Given the description of an element on the screen output the (x, y) to click on. 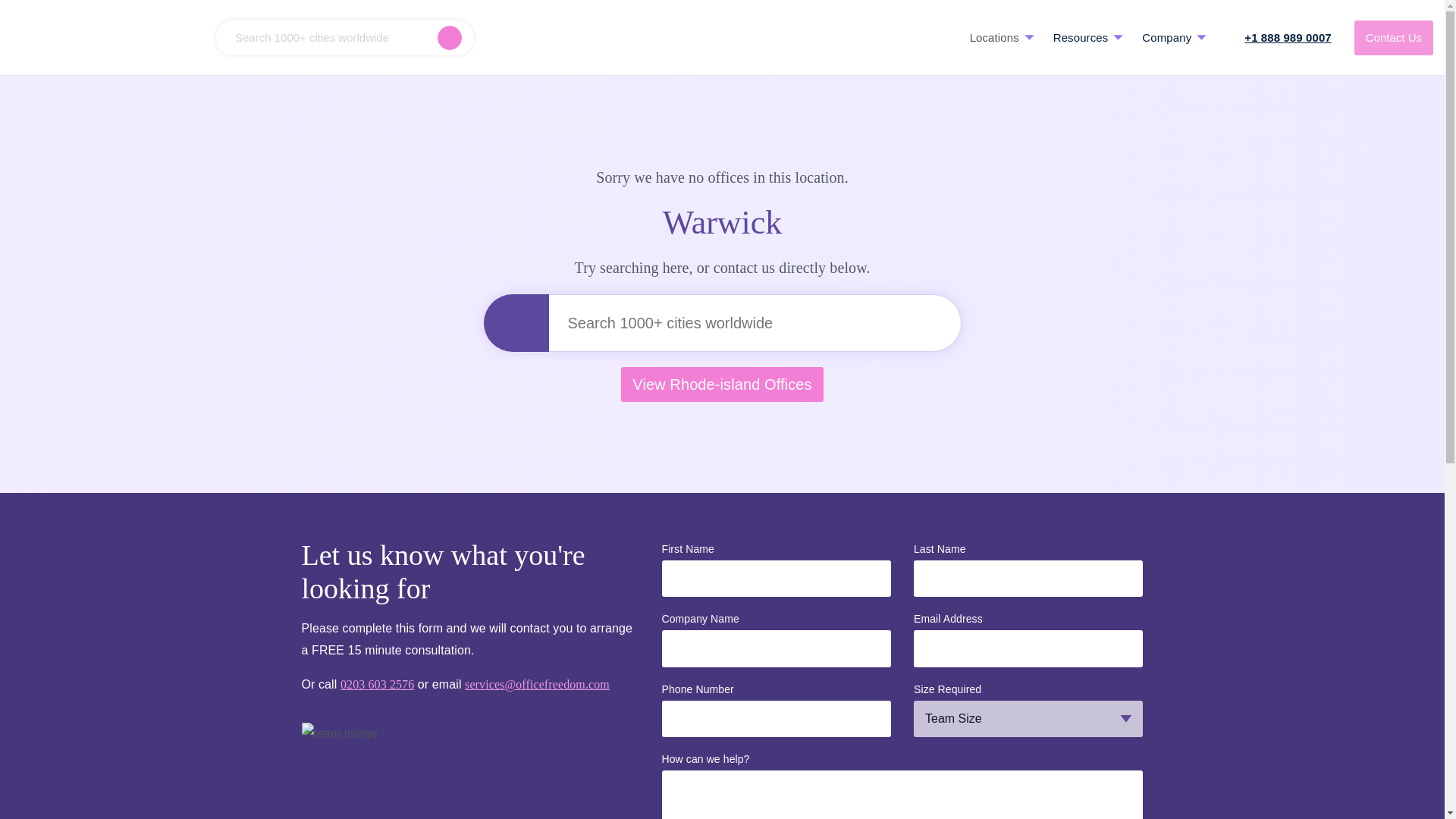
drop down arrow icon (1201, 37)
drop down arrow icon (1117, 37)
drop down arrow icon (1029, 37)
